Given the description of an element on the screen output the (x, y) to click on. 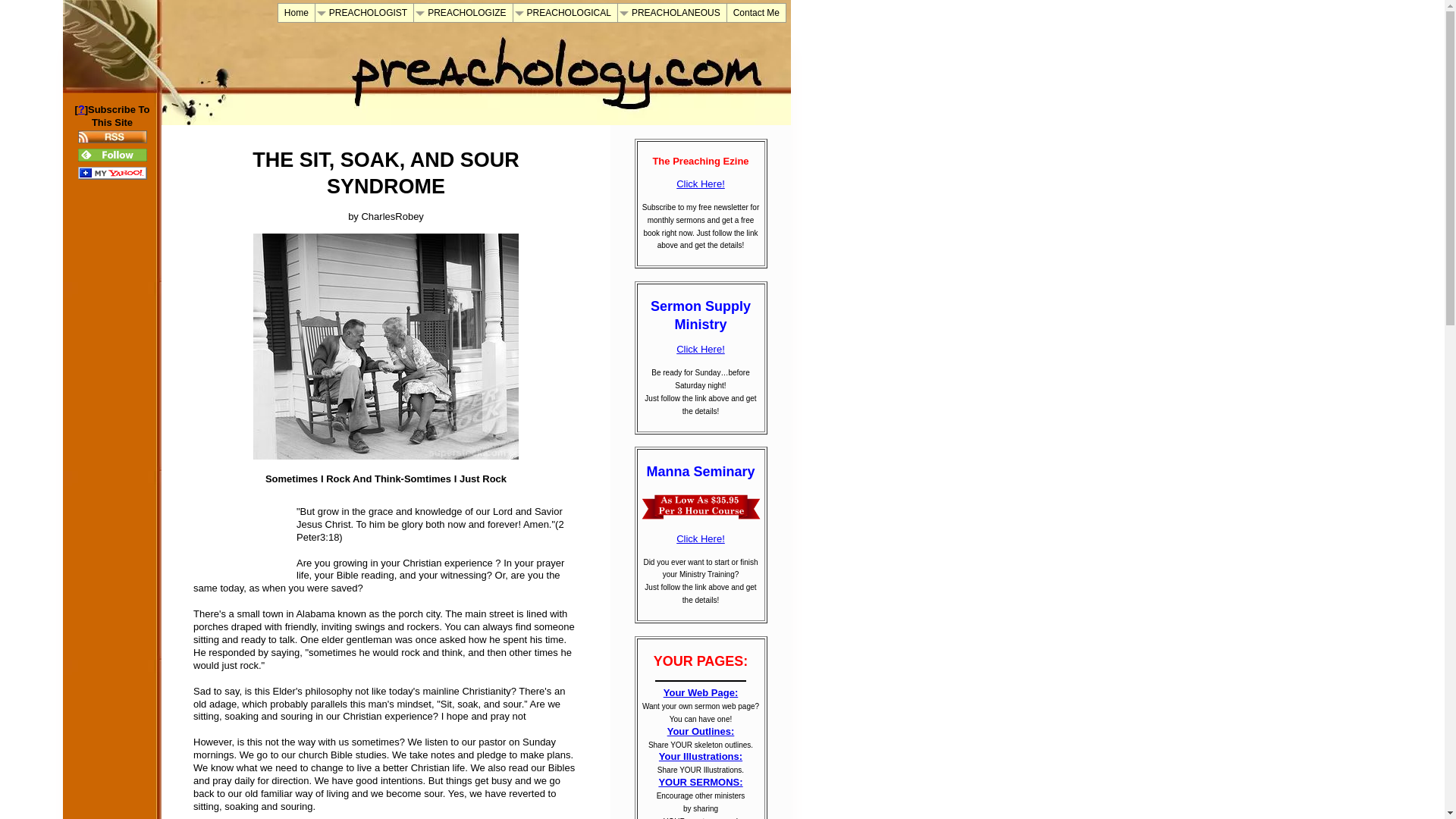
Sermon Supply Ministry (701, 348)
The Preaching Ezine (701, 183)
Advertisement (238, 530)
Contact Me (756, 13)
Sometimes I Rock And Think-Somtimes I Just Rock (385, 346)
Manna Seminary (701, 538)
Home (296, 13)
